Given the description of an element on the screen output the (x, y) to click on. 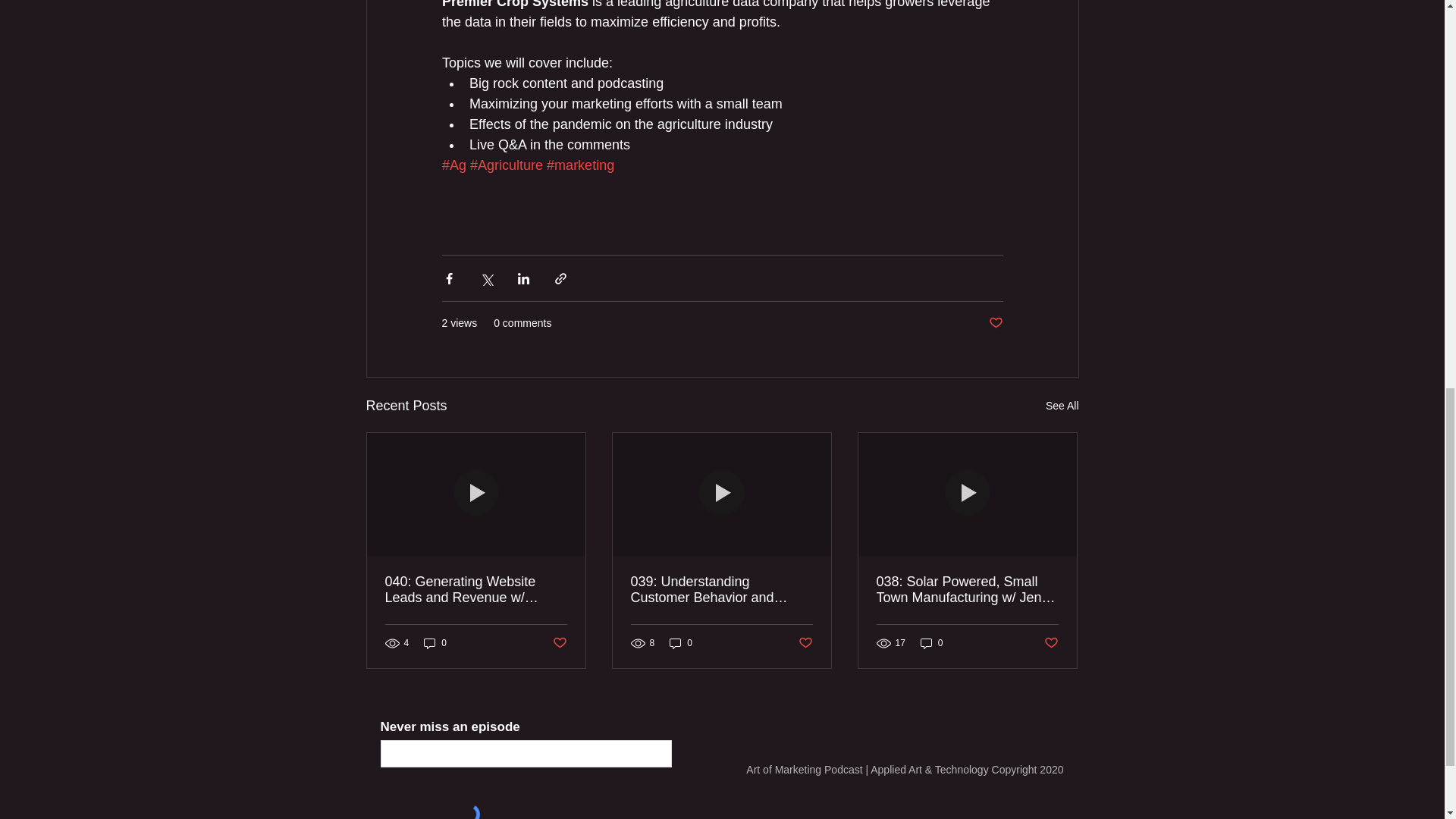
Post not marked as liked (995, 323)
0 (931, 643)
0 (435, 643)
See All (1061, 405)
Post not marked as liked (1050, 643)
0 (681, 643)
Post not marked as liked (804, 643)
Post not marked as liked (558, 643)
